Given the description of an element on the screen output the (x, y) to click on. 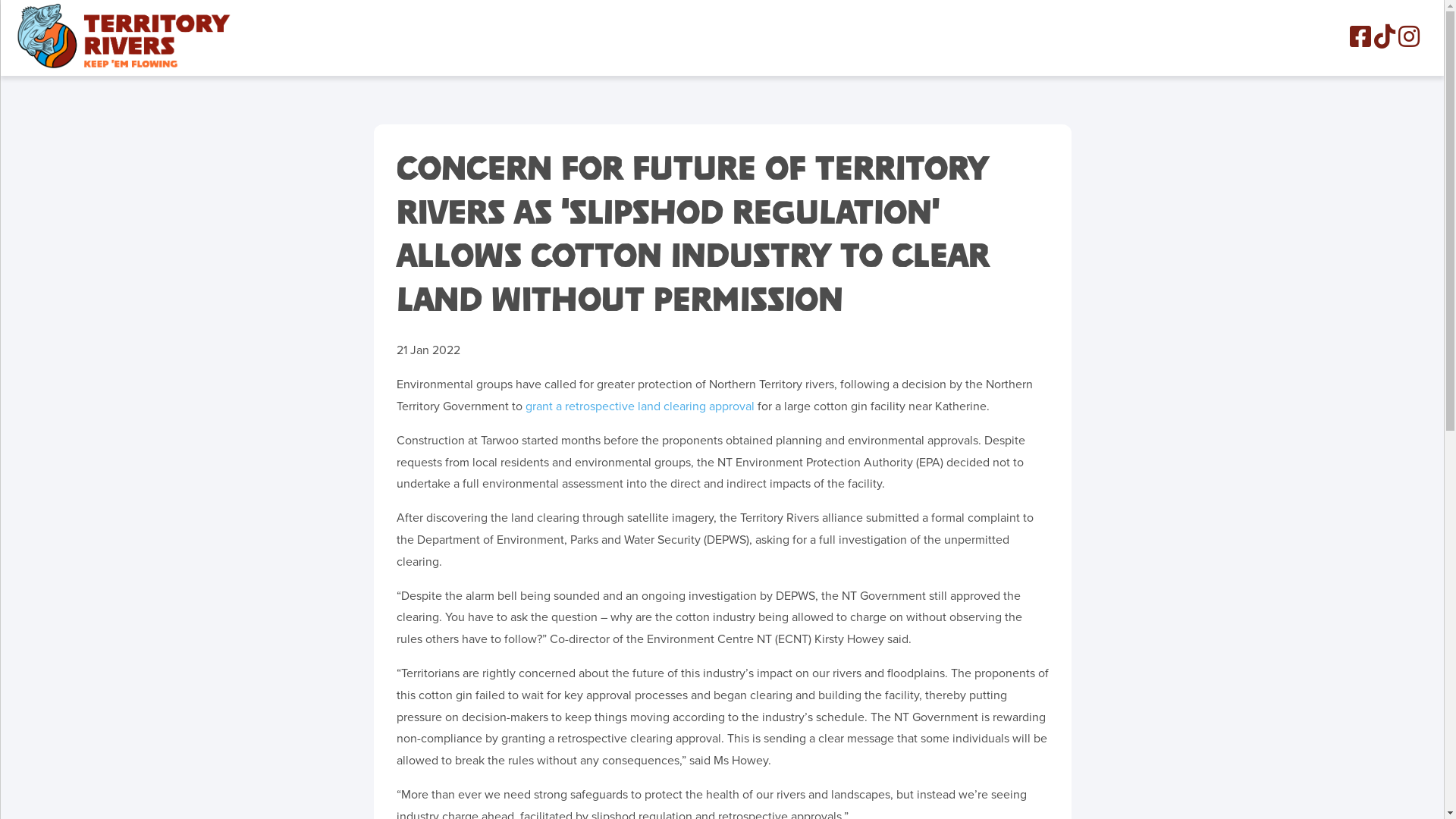
Find us on TikTok Element type: text (1384, 41)
TikTok Element type: hover (1384, 36)
Find us on Instagram Element type: hover (1408, 36)
Find us on facebook Element type: text (1360, 41)
Find us on Facebook Element type: hover (1360, 36)
grant a retrospective land clearing approval Element type: text (638, 406)
Find us on Instagram Element type: text (1408, 41)
